Given the description of an element on the screen output the (x, y) to click on. 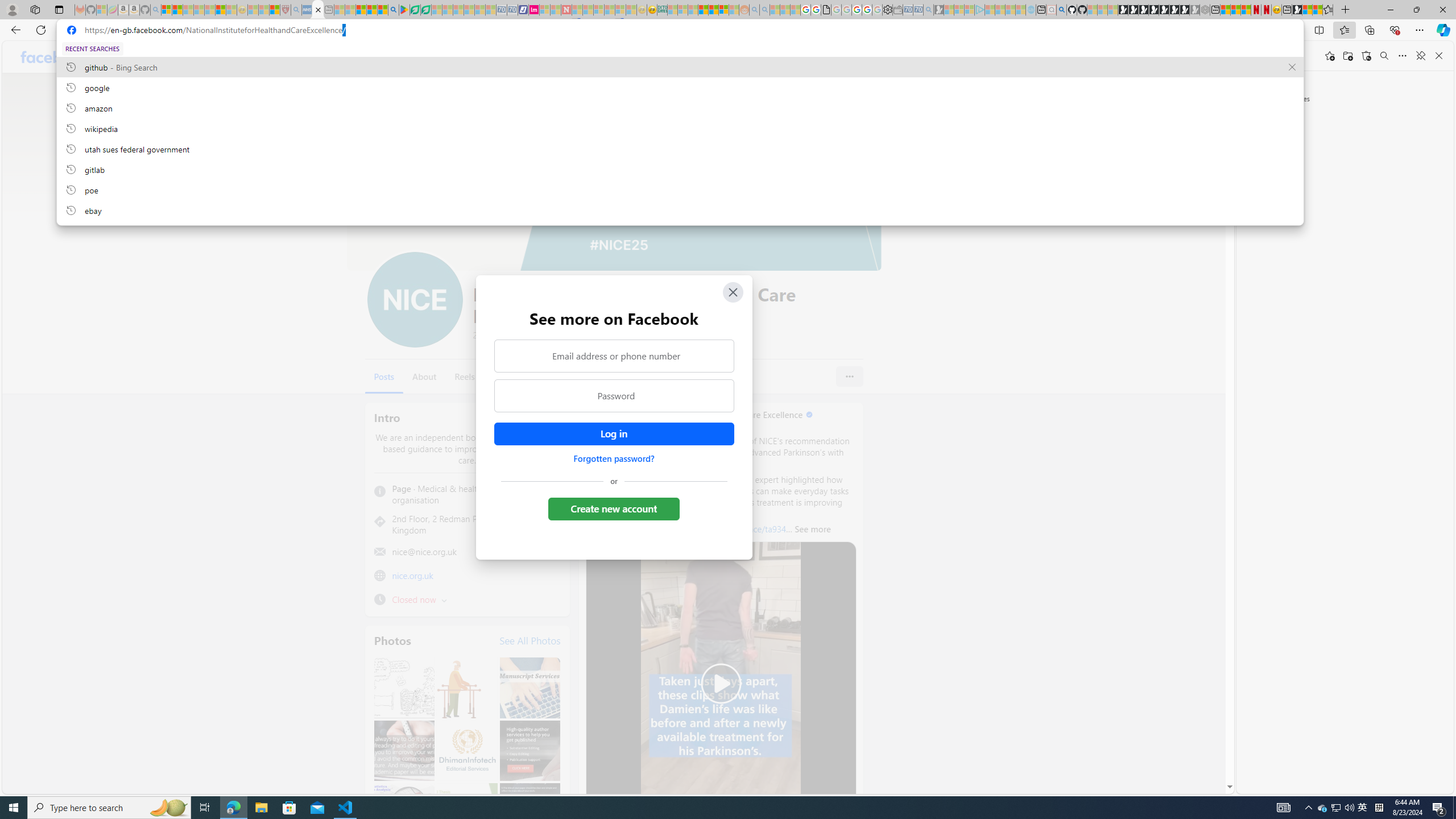
Play Cave FRVR in your browser | Games from Microsoft Start (1143, 9)
list of asthma inhalers uk - Search - Sleeping (296, 9)
Restore deleted favorites (1366, 55)
Close favorites (1439, 55)
DITOGAMES AG Imprint (662, 9)
14 Common Myths Debunked By Scientific Facts - Sleeping (588, 9)
gitlab, recent searches from history (679, 168)
